Given the description of an element on the screen output the (x, y) to click on. 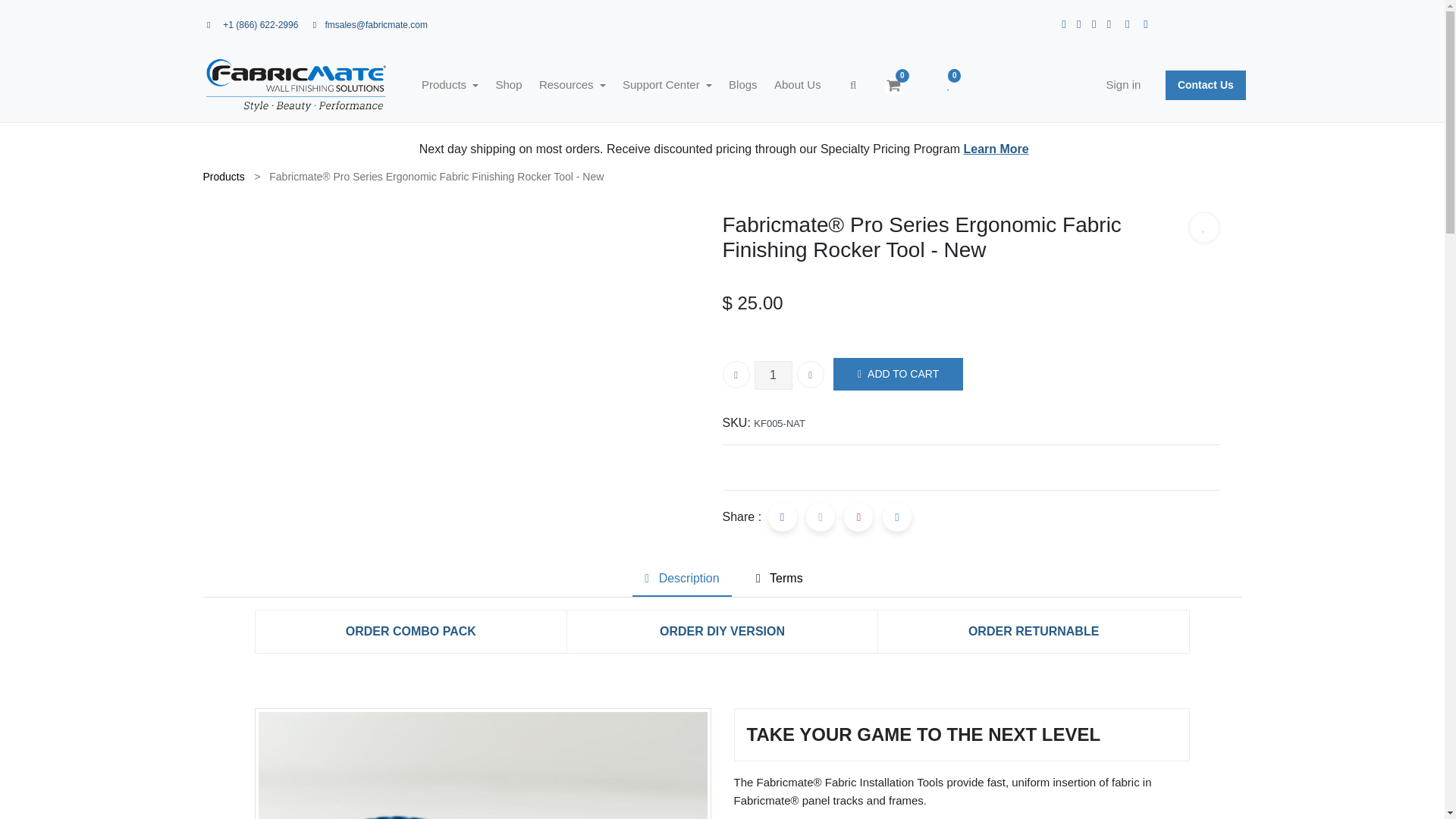
1 (773, 375)
Support Center (667, 84)
Products (450, 84)
Shop (507, 84)
Fabricmate Systems, Inc. (295, 85)
Resources (572, 84)
